Given the description of an element on the screen output the (x, y) to click on. 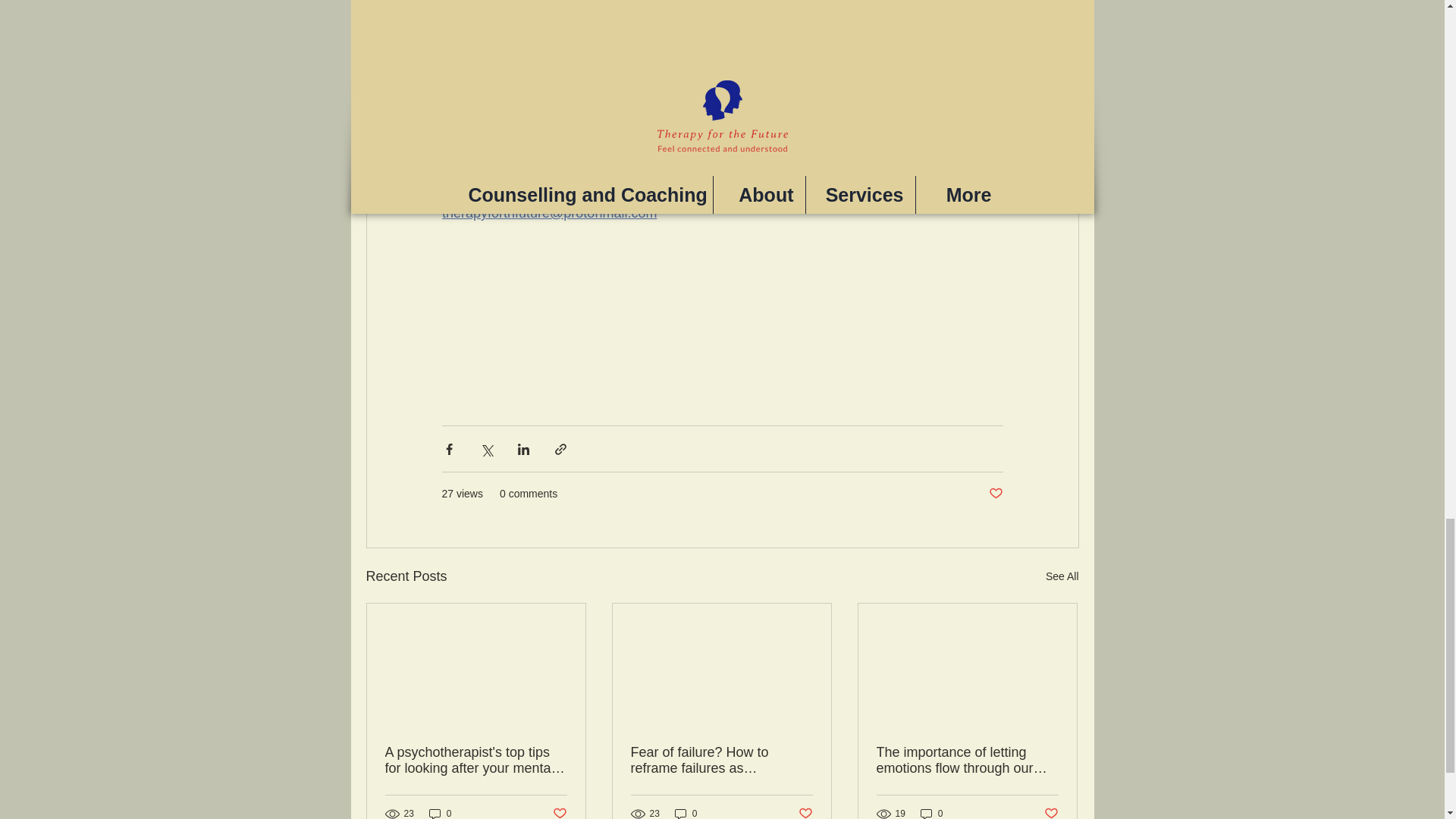
Post not marked as liked (1050, 812)
See All (1061, 576)
0 (931, 812)
Post not marked as liked (558, 812)
Post not marked as liked (804, 812)
0 (440, 812)
0 (685, 812)
Post not marked as liked (995, 494)
